Given the description of an element on the screen output the (x, y) to click on. 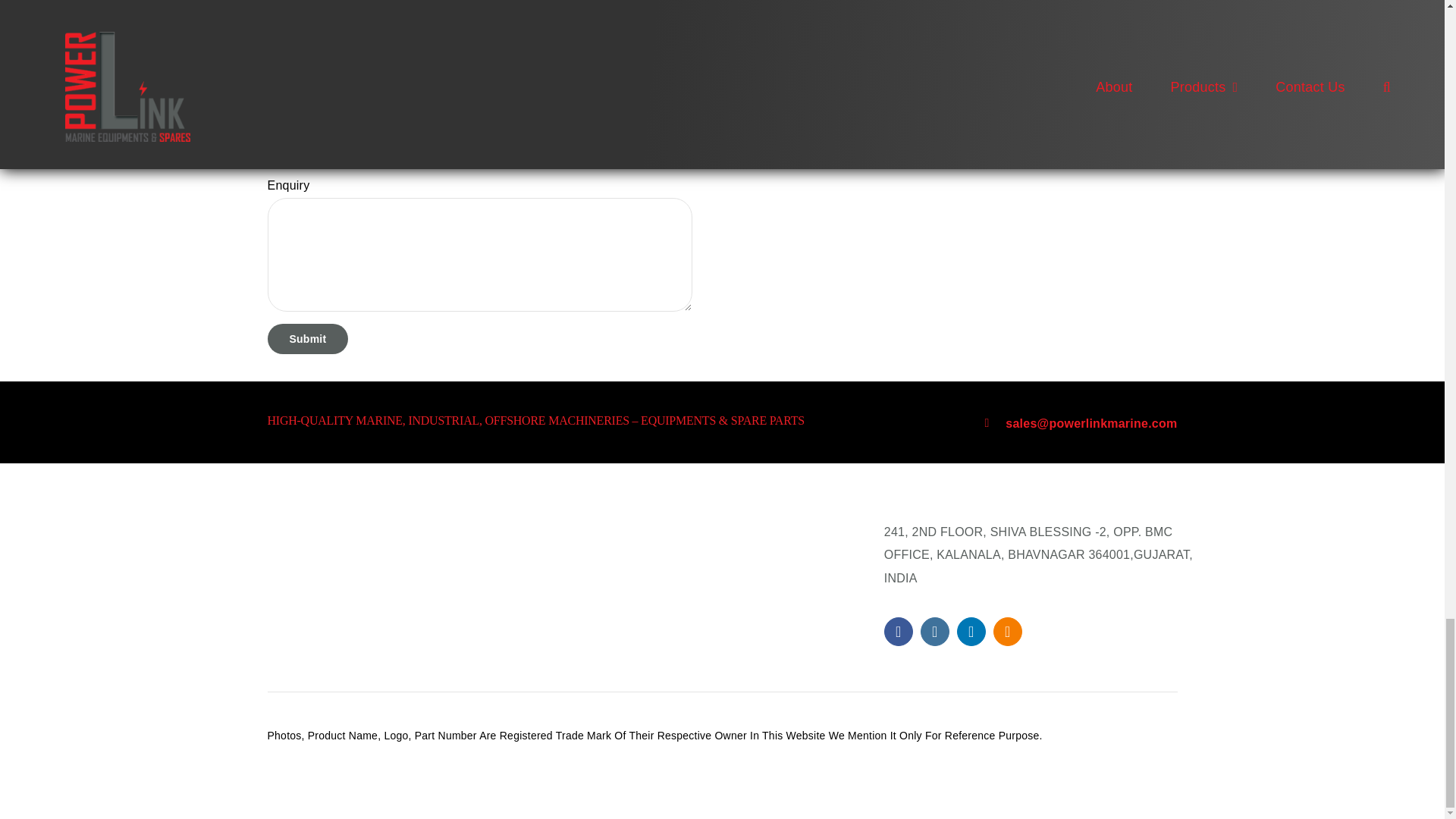
POWER LINK LOGO small (333, 567)
Submit (306, 338)
